Given the description of an element on the screen output the (x, y) to click on. 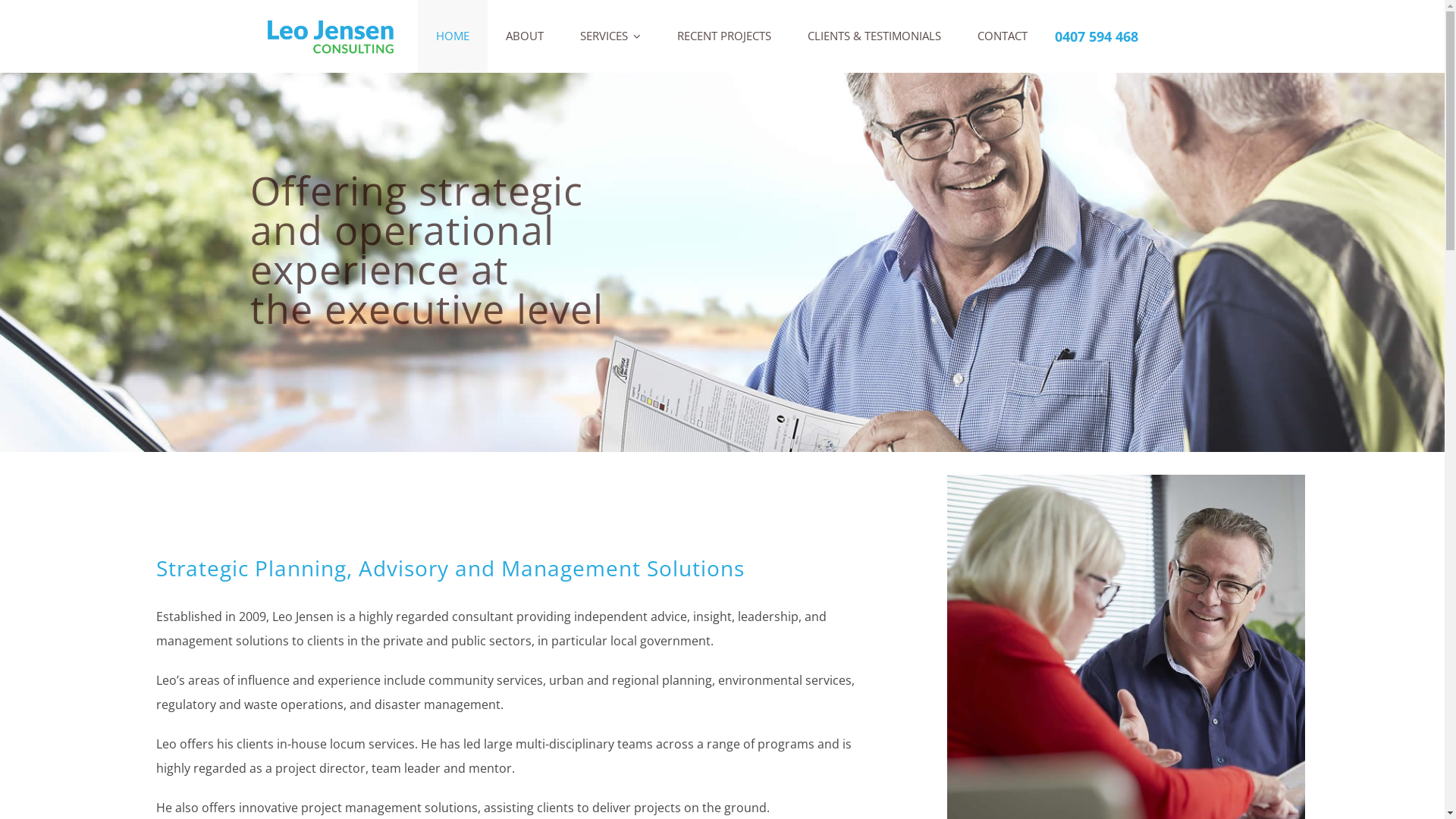
0407 594 468 Element type: text (1096, 36)
CLIENTS & TESTIMONIALS Element type: text (874, 36)
RECENT PROJECTS Element type: text (723, 36)
ABOUT Element type: text (524, 36)
SERVICES Element type: text (610, 36)
HOME Element type: text (452, 36)
CONTACT Element type: text (1002, 36)
